Given the description of an element on the screen output the (x, y) to click on. 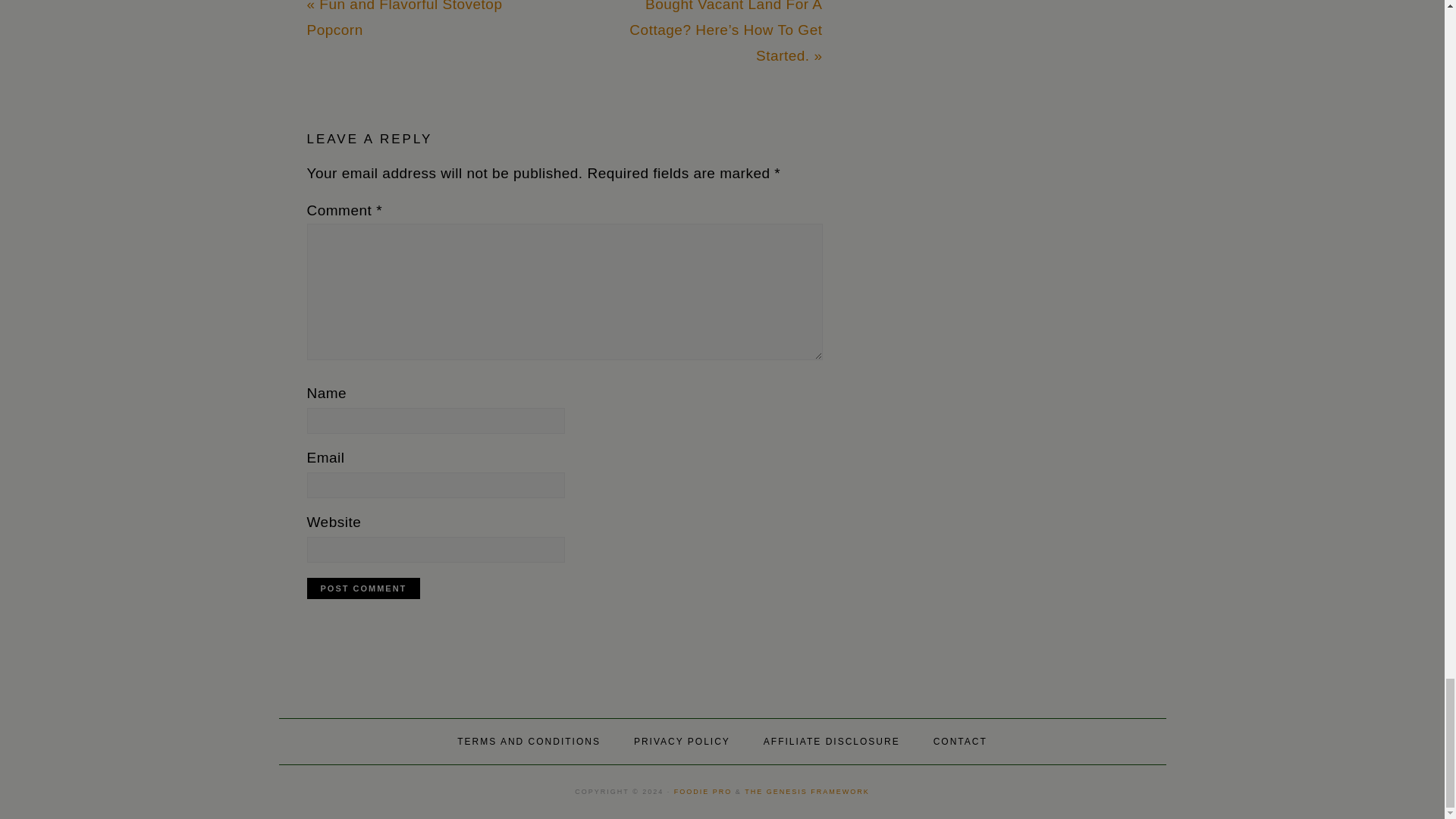
Post Comment (362, 588)
Post Comment (362, 588)
